Given the description of an element on the screen output the (x, y) to click on. 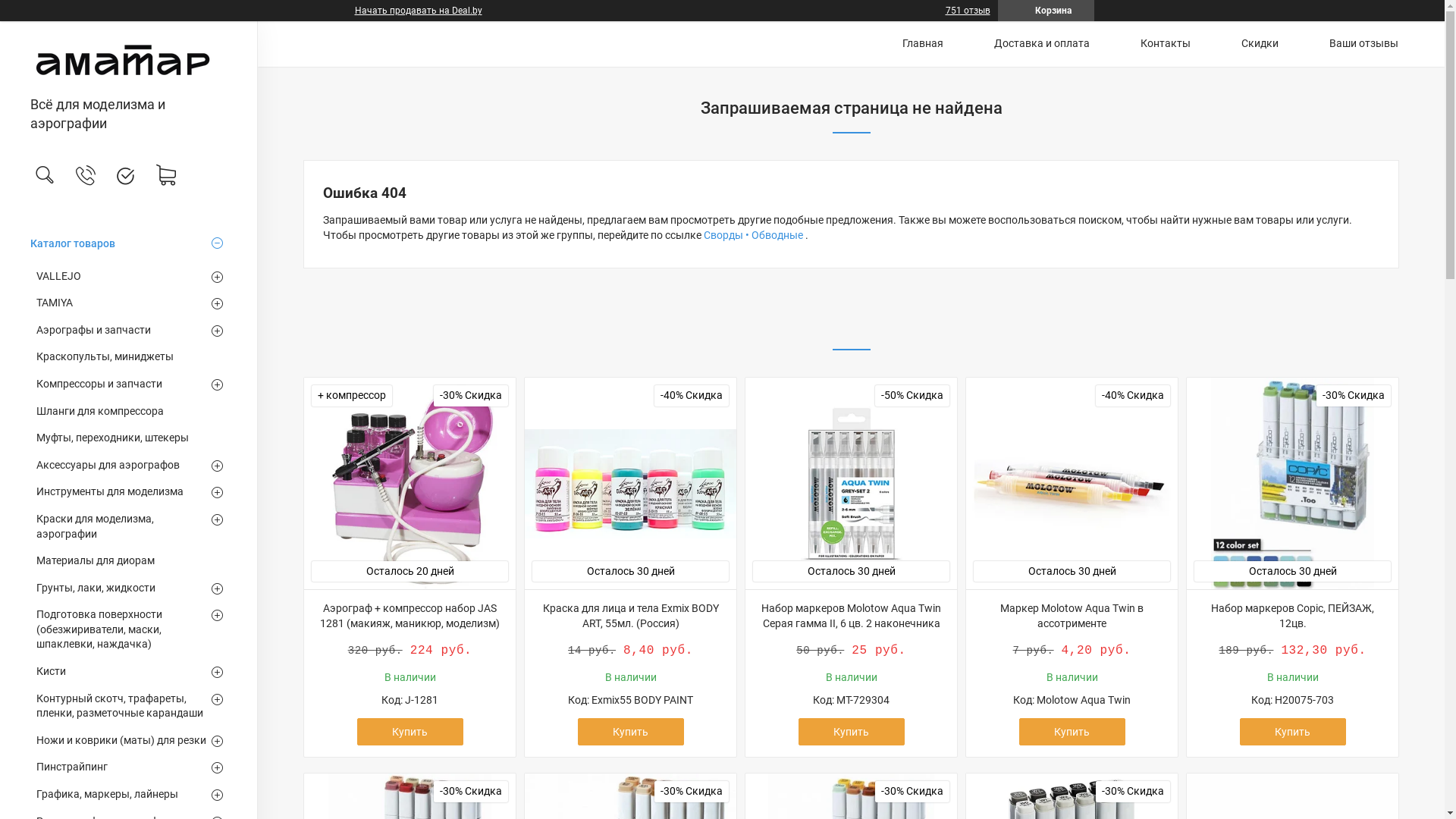
TAMIYA Element type: text (128, 302)
VALLEJO Element type: text (128, 276)
